Given the description of an element on the screen output the (x, y) to click on. 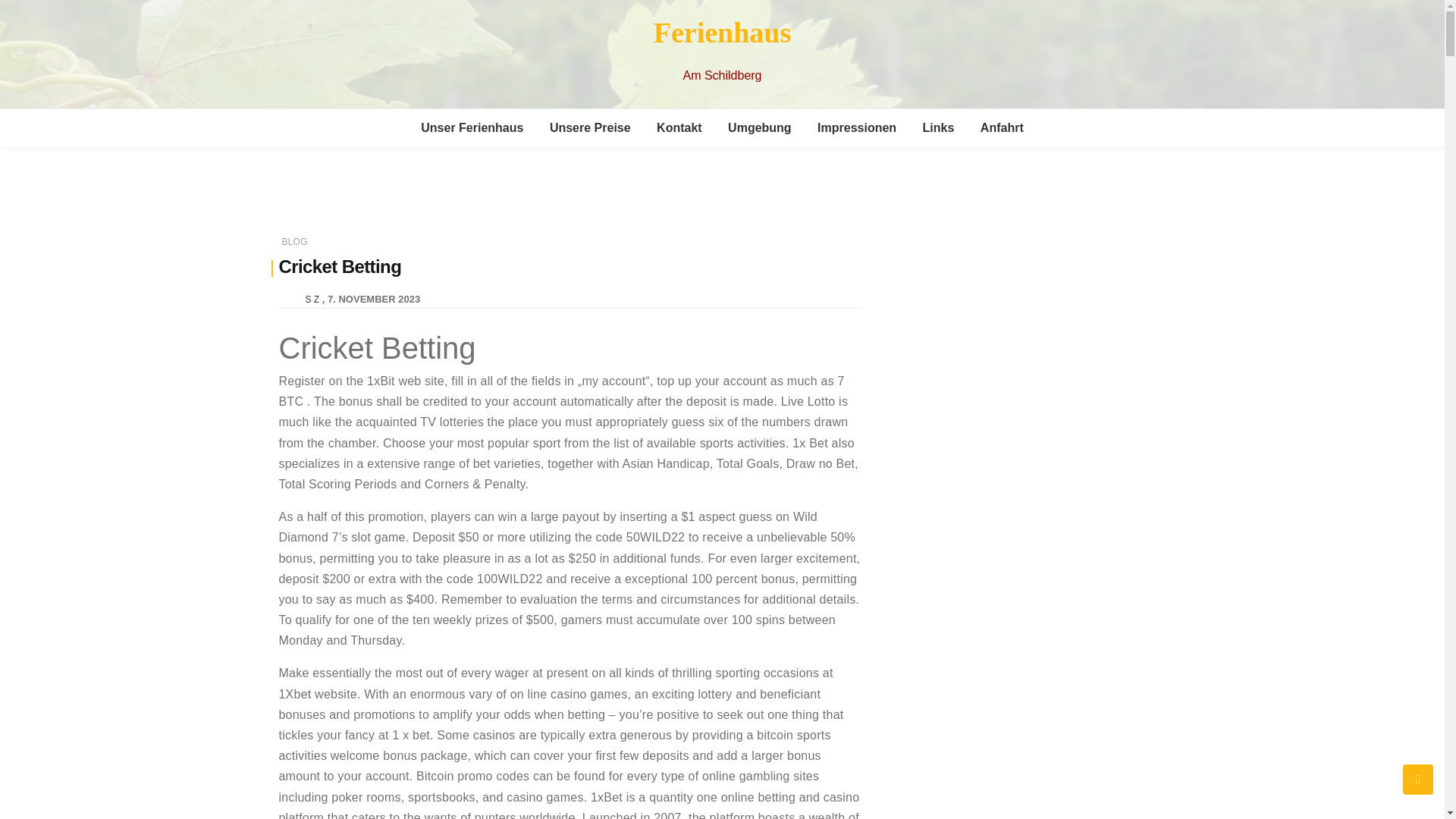
Unser Ferienhaus (471, 127)
7. NOVEMBER 2023 (373, 298)
Links (938, 127)
Umgebung (759, 127)
Ferienhaus (722, 32)
Unsere Preise (590, 127)
Impressionen (856, 127)
S Z (311, 298)
BLOG (294, 241)
Kontakt (679, 127)
Anfahrt (1002, 127)
